Given the description of an element on the screen output the (x, y) to click on. 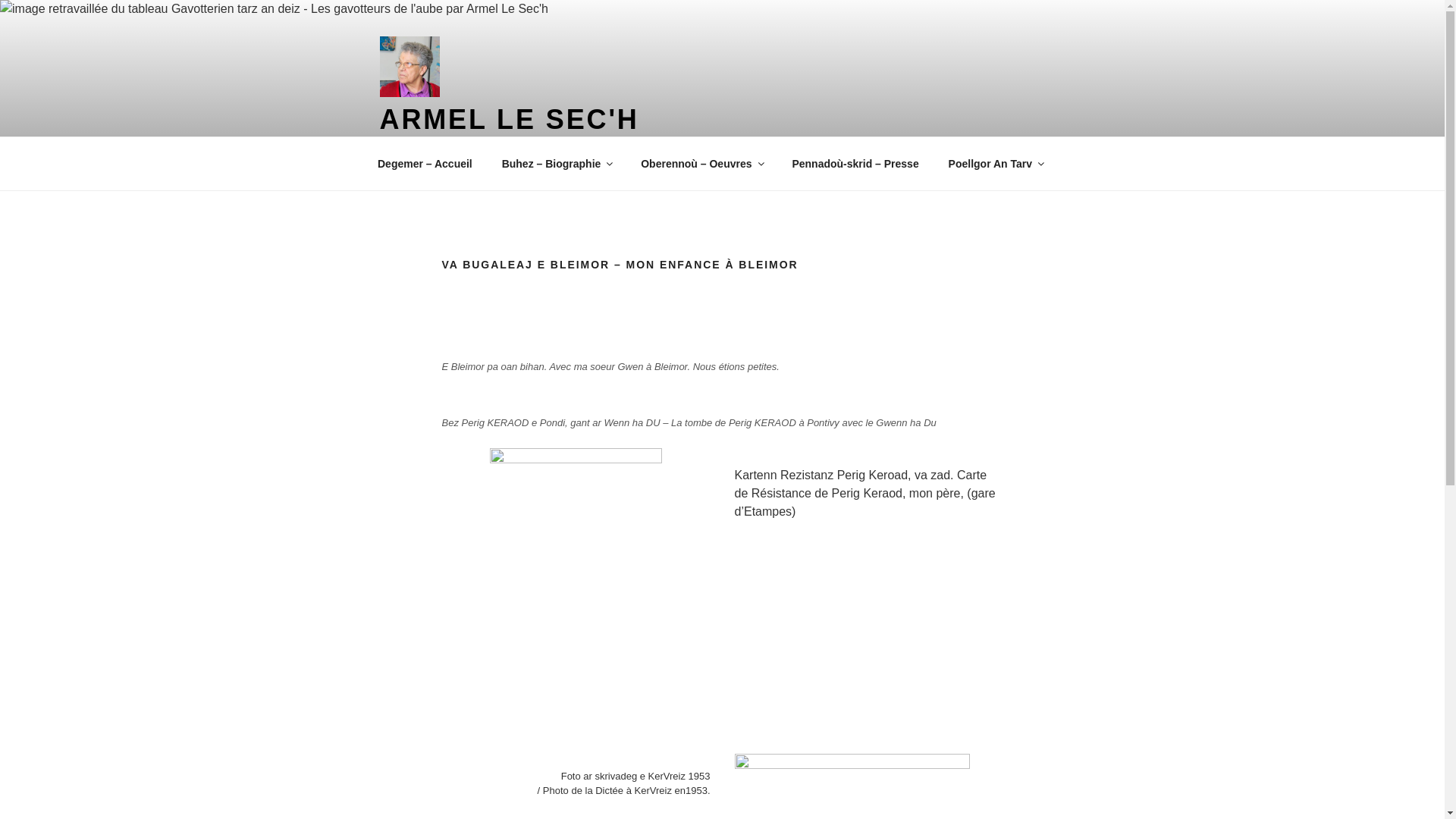
ARMEL LE SEC'H Element type: text (508, 118)
Poellgor An Tarv Element type: text (995, 163)
